Given the description of an element on the screen output the (x, y) to click on. 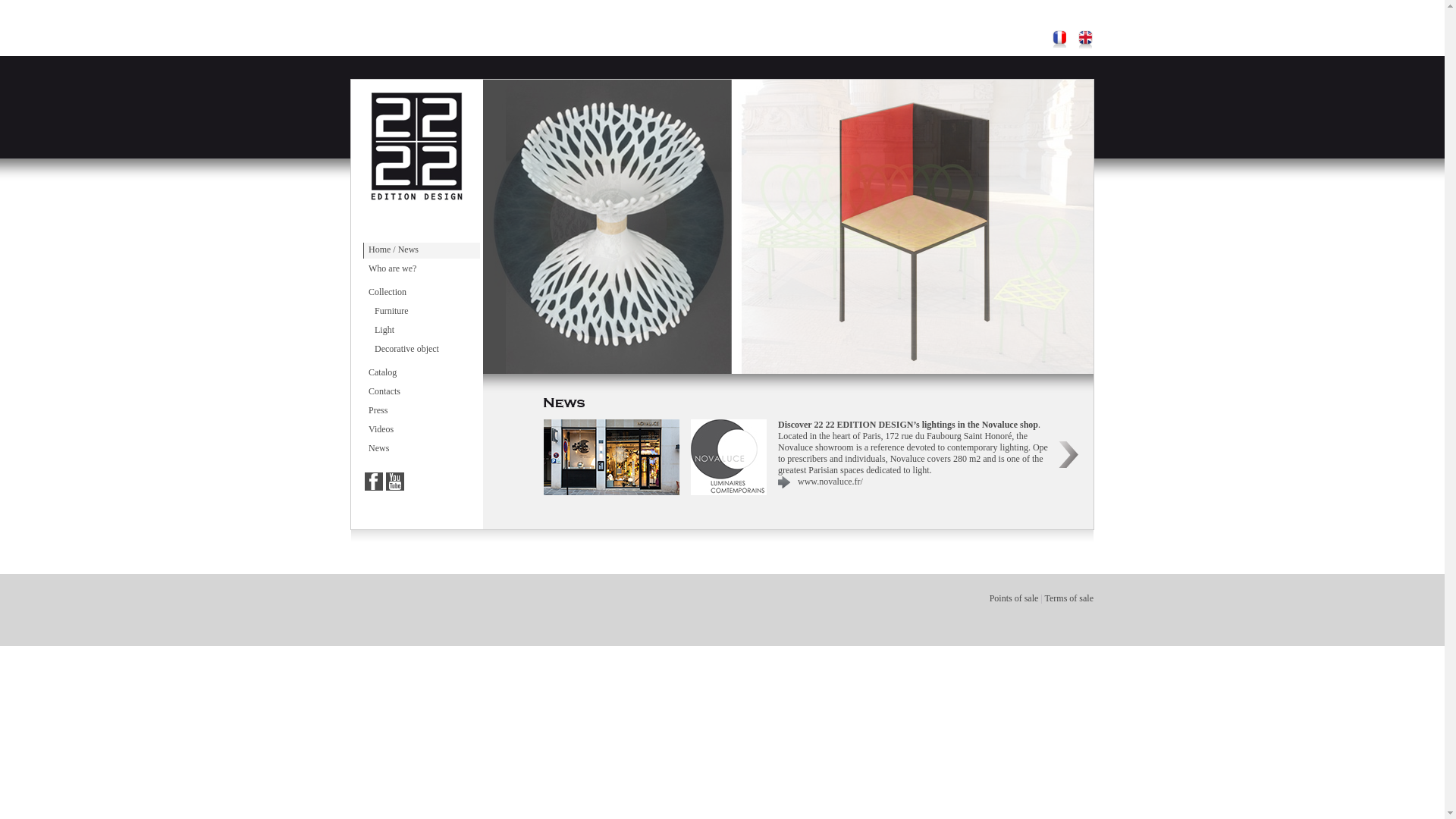
Catalog Element type: text (421, 373)
Contacts Element type: text (421, 392)
Light Element type: text (421, 330)
News Element type: text (421, 449)
Who are we? Element type: text (421, 269)
Press Element type: text (421, 411)
Points of sale Element type: text (1013, 598)
Videos Element type: text (421, 430)
Furniture Element type: text (421, 312)
Decorative object Element type: text (421, 349)
www.novaluce.fr/ Element type: text (829, 481)
Terms of sale Element type: text (1068, 598)
Home / News Element type: text (421, 250)
